Given the description of an element on the screen output the (x, y) to click on. 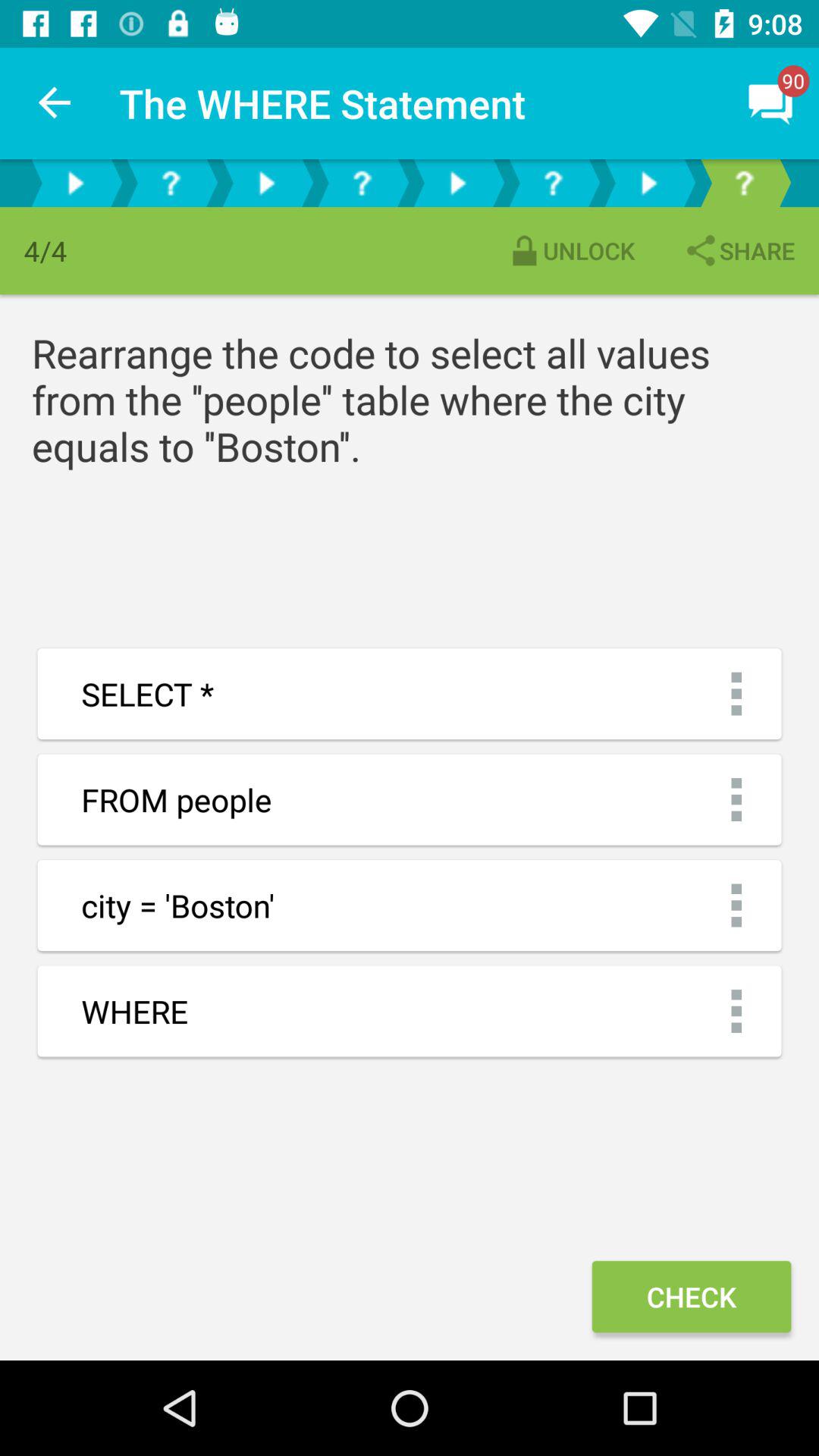
toggle play option (265, 183)
